Given the description of an element on the screen output the (x, y) to click on. 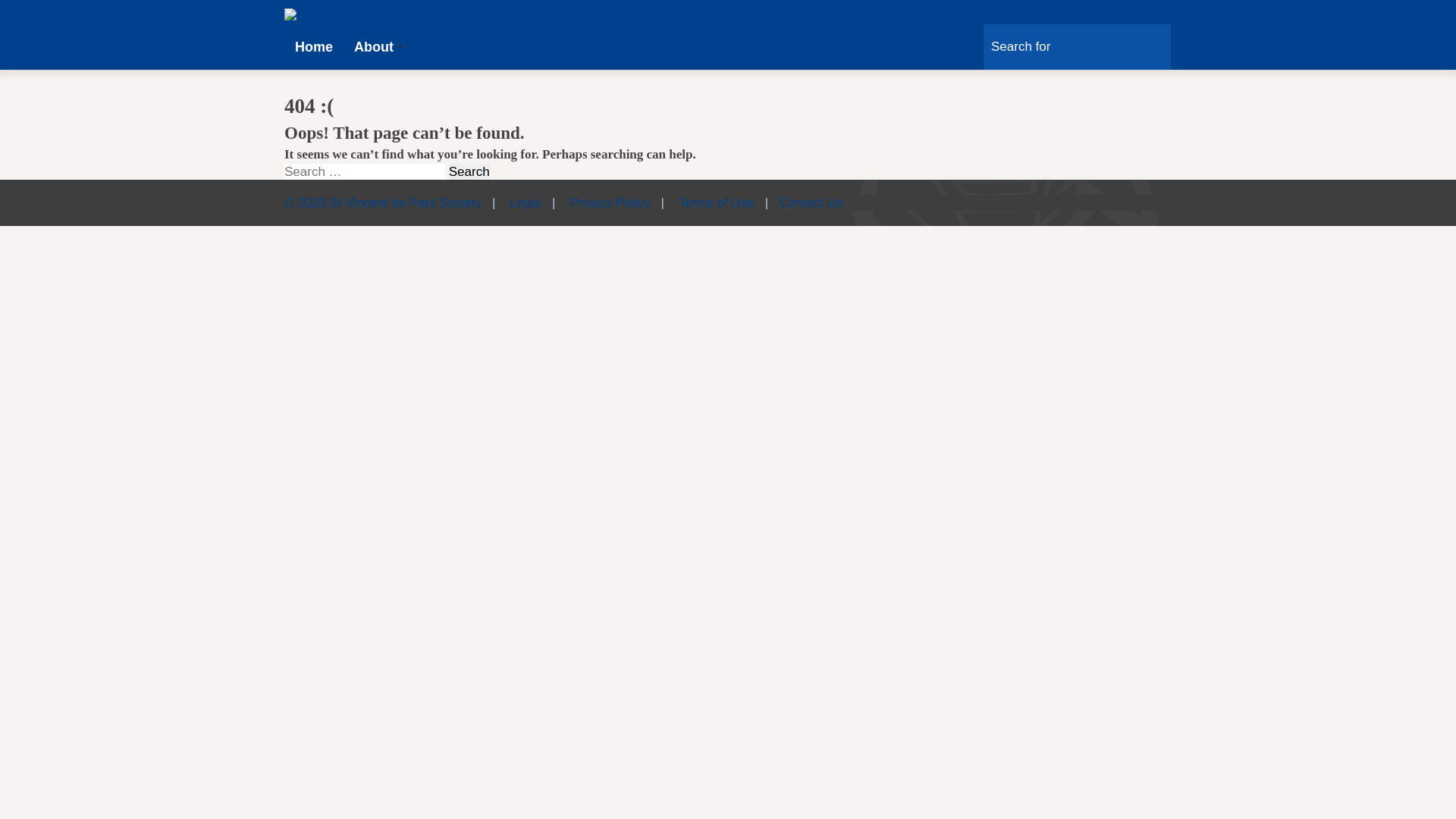
Search Element type: text (468, 171)
Search Element type: text (184, 500)
Contact Us Element type: text (810, 202)
Privacy Policy Element type: text (609, 202)
Terms of Use Element type: text (715, 202)
About Element type: text (377, 46)
Search for Element type: text (1155, 46)
Legal Element type: text (525, 202)
Search for Element type: hover (1076, 46)
St Vincent de Paul Society National Congress Element type: hover (421, 15)
Home Element type: text (313, 46)
